Given the description of an element on the screen output the (x, y) to click on. 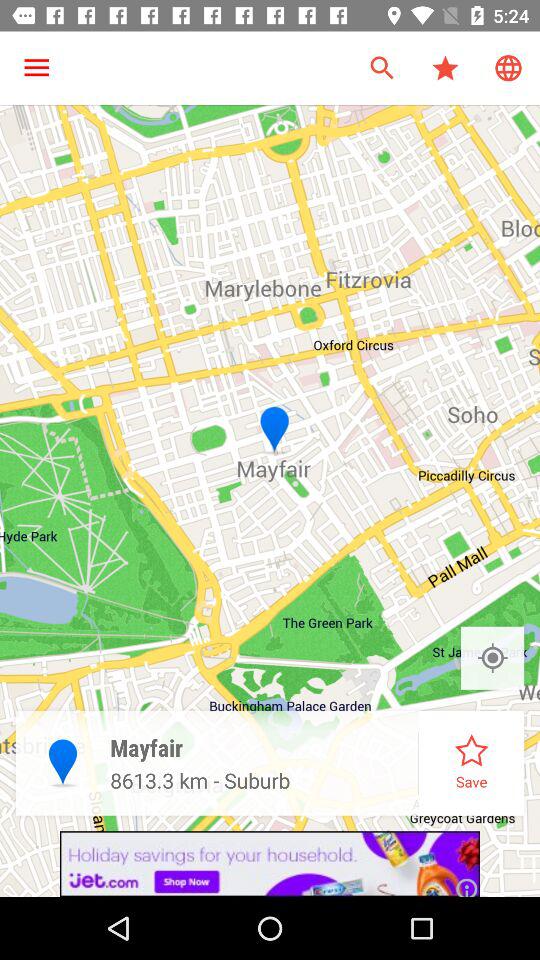
go to location (492, 657)
